Given the description of an element on the screen output the (x, y) to click on. 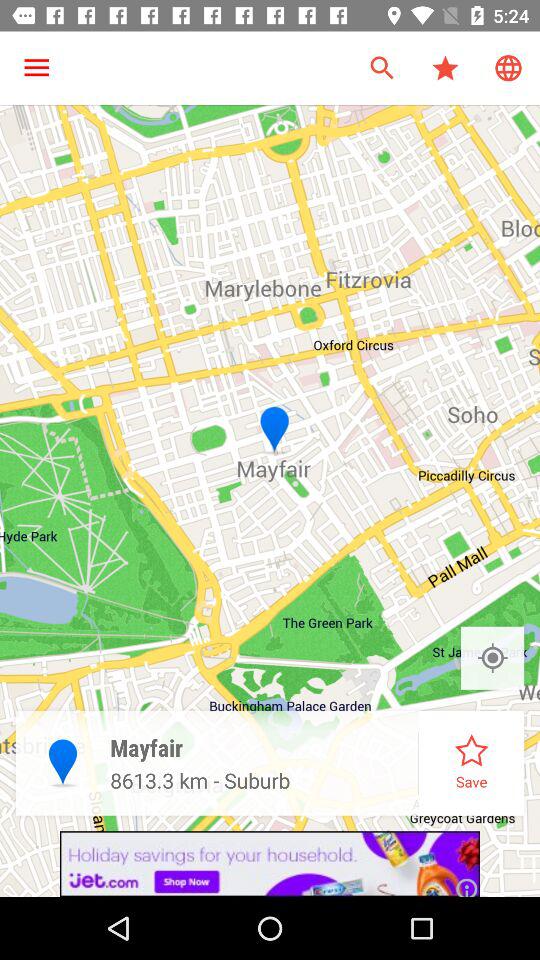
go to location (492, 657)
